Given the description of an element on the screen output the (x, y) to click on. 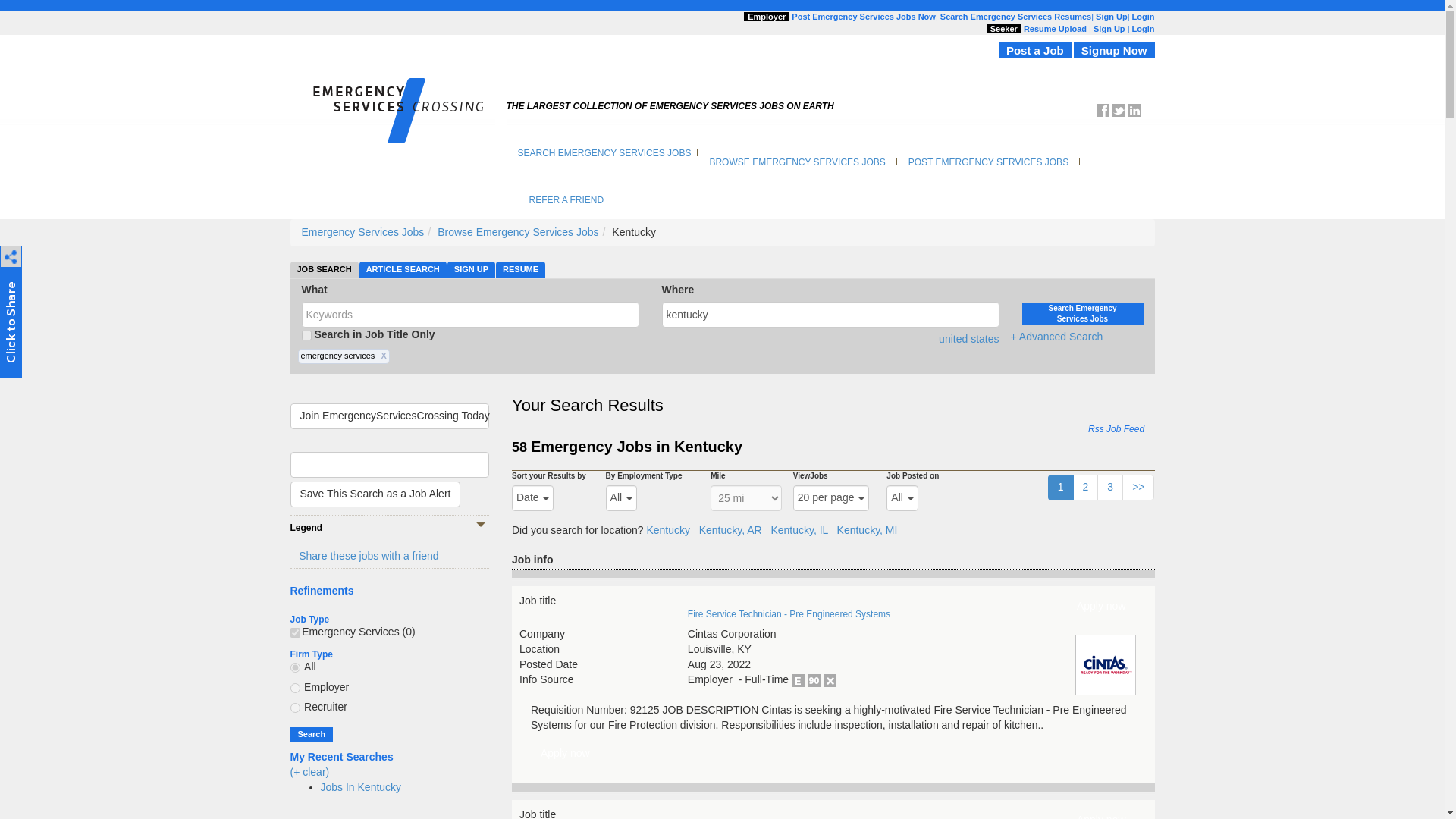
Login (1143, 28)
POST EMERGENCY SERVICES JOBS (988, 161)
Emergency Services Jobs (363, 232)
Fire Service Technician - Pre Engineered Systems (1101, 606)
Post Emergency Services Jobs Now (864, 16)
Signup Now (1114, 50)
Search Emergency Services Jobs (1082, 313)
90 (814, 680)
Join EmergencyServicesCrossing Today (389, 415)
on (306, 335)
Sign Up (1109, 28)
Fire Service Technician - Pre Engineered Systems (565, 753)
RESUME (520, 269)
Resume Upload (1054, 28)
